Given the description of an element on the screen output the (x, y) to click on. 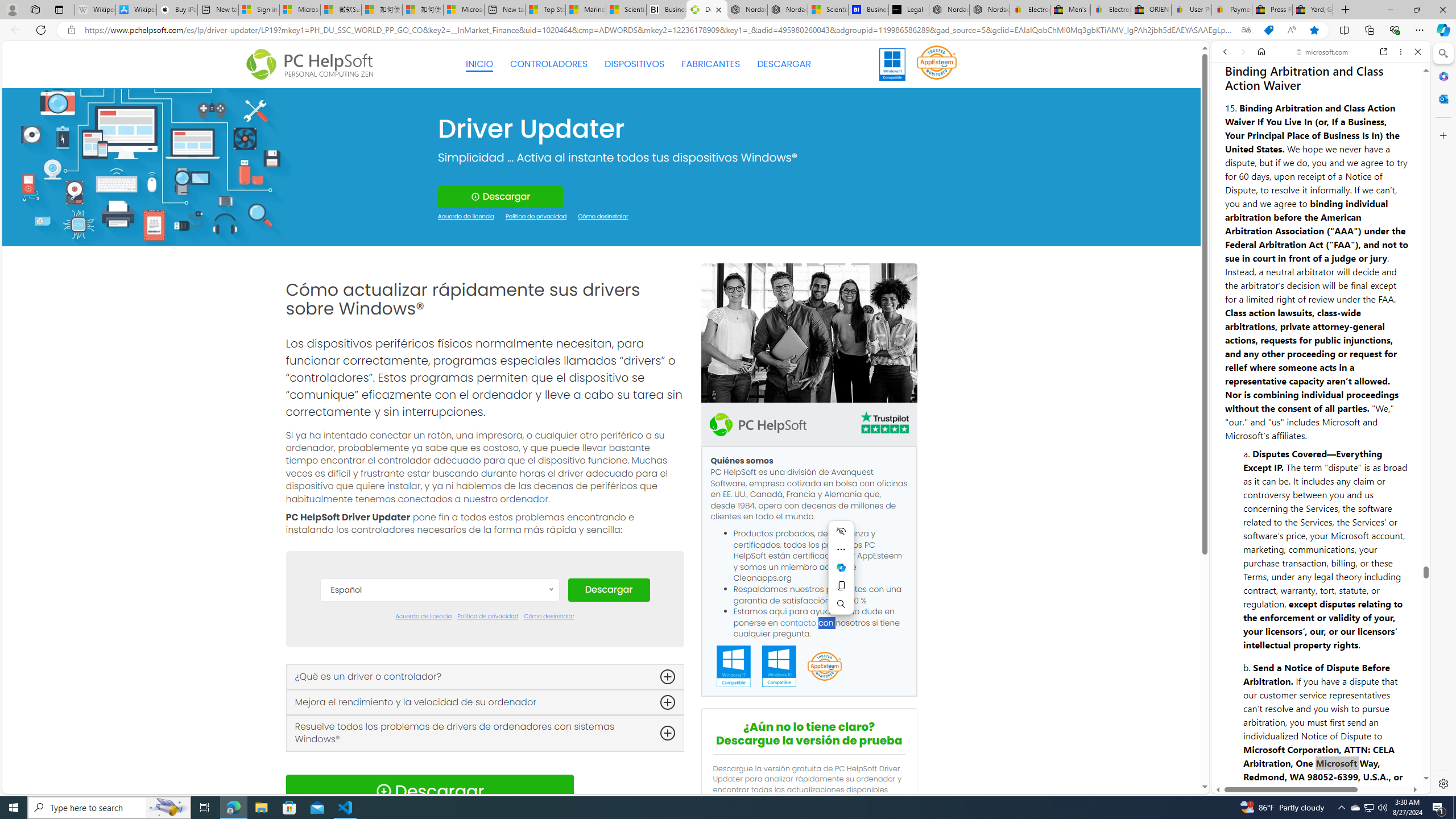
Payments Terms of Use | eBay.com (1231, 9)
microsoft.com (1323, 51)
Feedback (1384, 757)
Outlook (1442, 98)
Windows 11 (892, 64)
Mini menu on text selection (841, 574)
Legal (1292, 757)
DISPOSITIVOS (634, 64)
Dansk (439, 643)
Top Stories - MSN (544, 9)
